Given the description of an element on the screen output the (x, y) to click on. 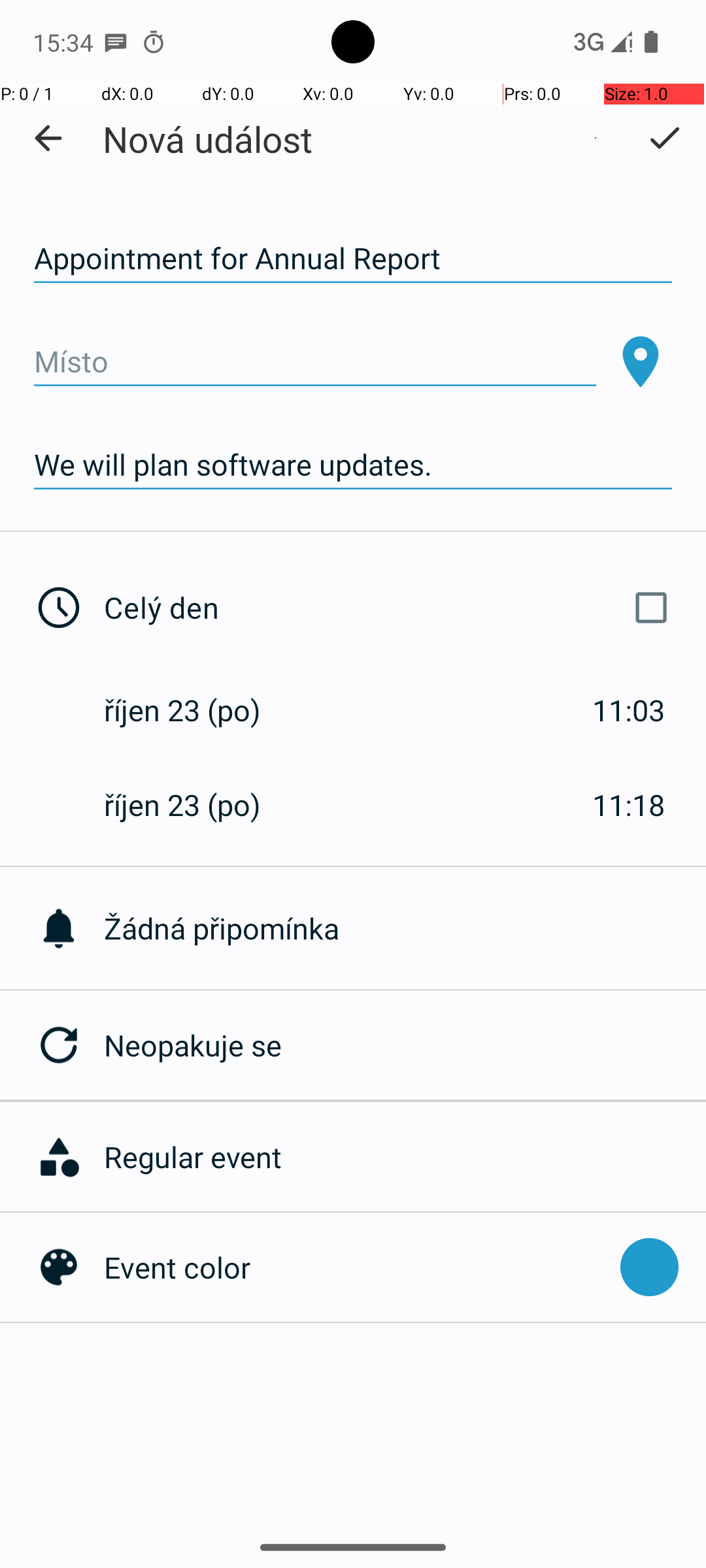
Místo Element type: android.widget.EditText (314, 361)
We will plan software updates. Element type: android.widget.EditText (352, 465)
říjen 23 (po) Element type: android.widget.TextView (195, 709)
11:03 Element type: android.widget.TextView (628, 709)
11:18 Element type: android.widget.TextView (628, 804)
Neopakuje se Element type: android.widget.TextView (404, 1044)
